Given the description of an element on the screen output the (x, y) to click on. 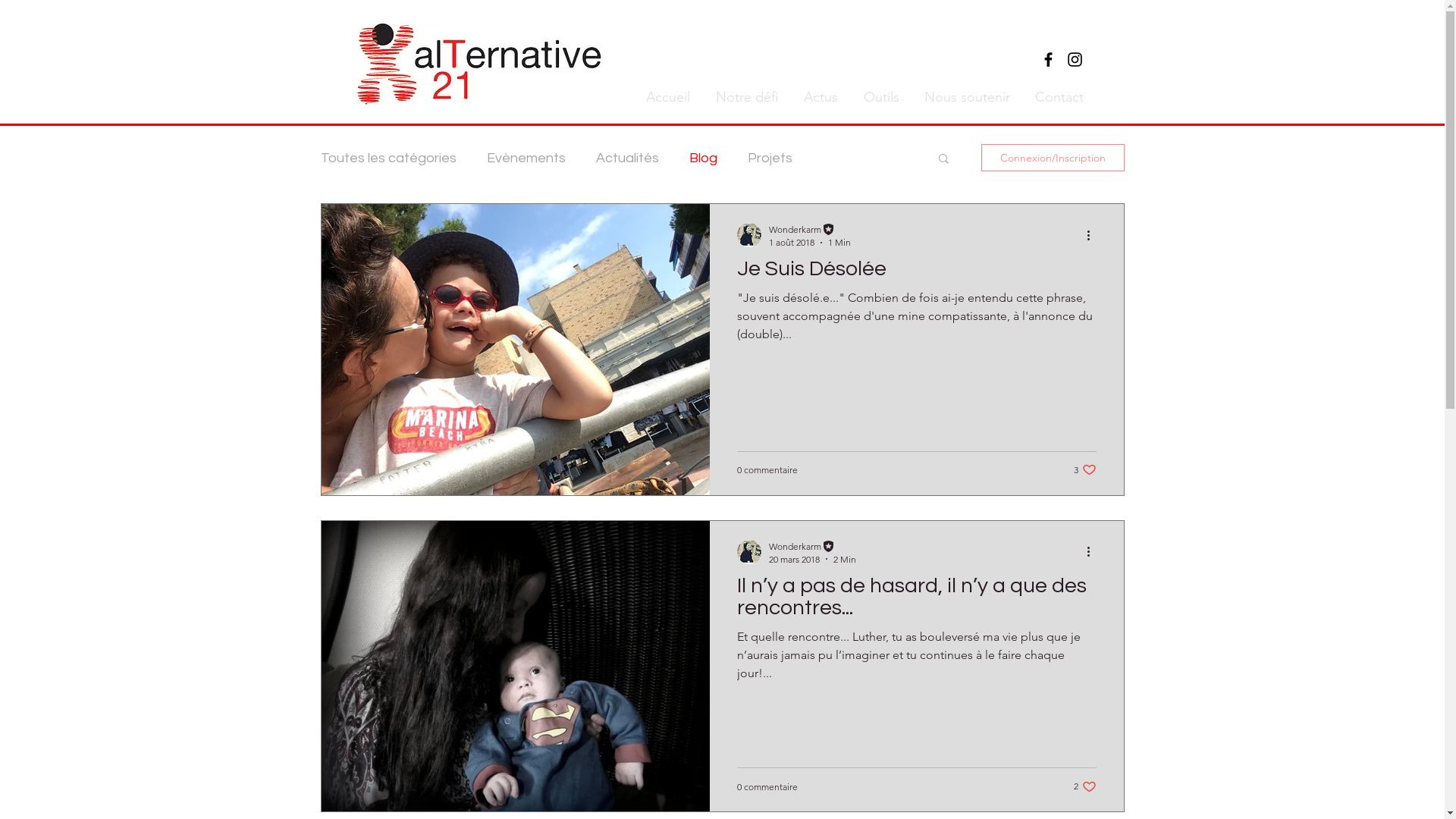
Wonderkarm Element type: text (809, 229)
Blog Element type: text (702, 157)
3 j'aime. Vous n'aimez plus ce post
3 Element type: text (1084, 469)
0 commentaire Element type: text (767, 786)
Wonderkarm Element type: text (812, 545)
2 j'aime. Vous n'aimez plus ce post
2 Element type: text (1084, 786)
0 commentaire Element type: text (767, 469)
Nous soutenir Element type: text (965, 96)
Accueil Element type: text (665, 96)
Actus Element type: text (818, 96)
Outils Element type: text (879, 96)
Contact Element type: text (1057, 96)
Projets Element type: text (769, 157)
Connexion/Inscription Element type: text (1052, 157)
